Given the description of an element on the screen output the (x, y) to click on. 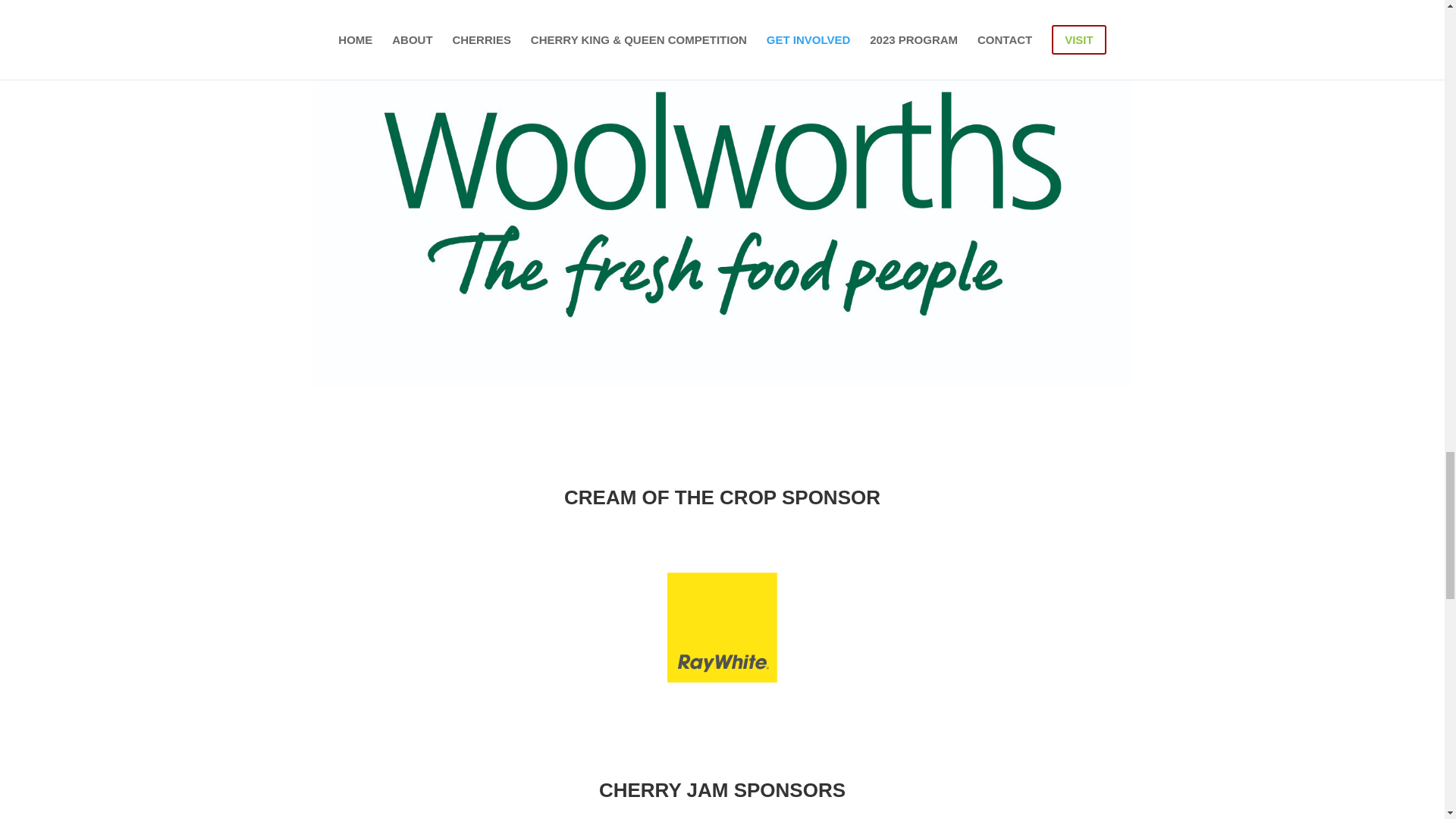
Ray-White-V2 (721, 627)
